Given the description of an element on the screen output the (x, y) to click on. 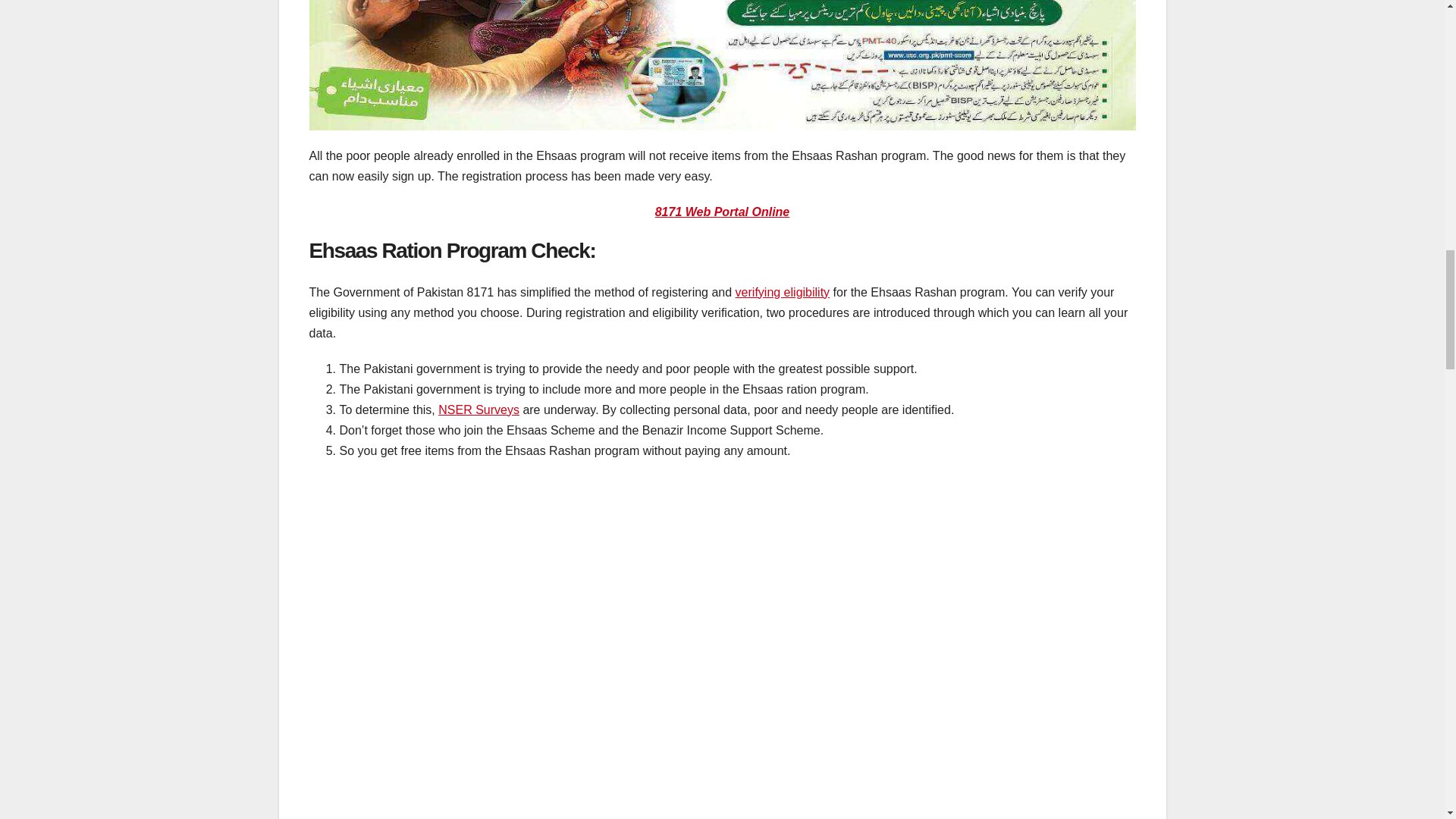
verifying eligibility (782, 291)
8171 Web Portal Online (722, 211)
NSER Surveys (478, 409)
